Given the description of an element on the screen output the (x, y) to click on. 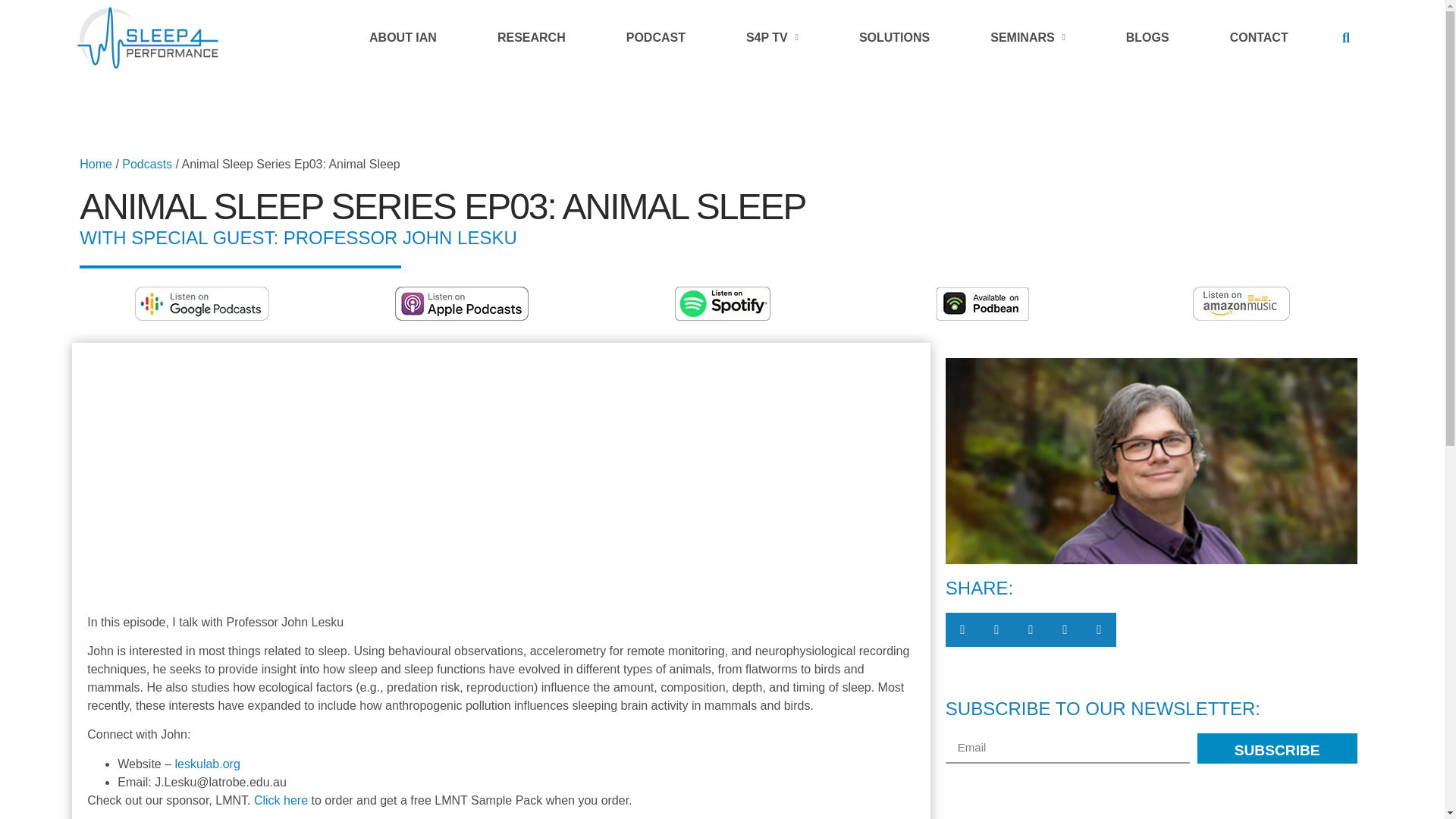
SEMINARS (1027, 37)
CONTACT (1259, 37)
SOLUTIONS (893, 37)
BLOGS (1147, 37)
RESEARCH (531, 37)
S4P TV (772, 37)
PODCAST (655, 37)
ABOUT IAN (403, 37)
